Given the description of an element on the screen output the (x, y) to click on. 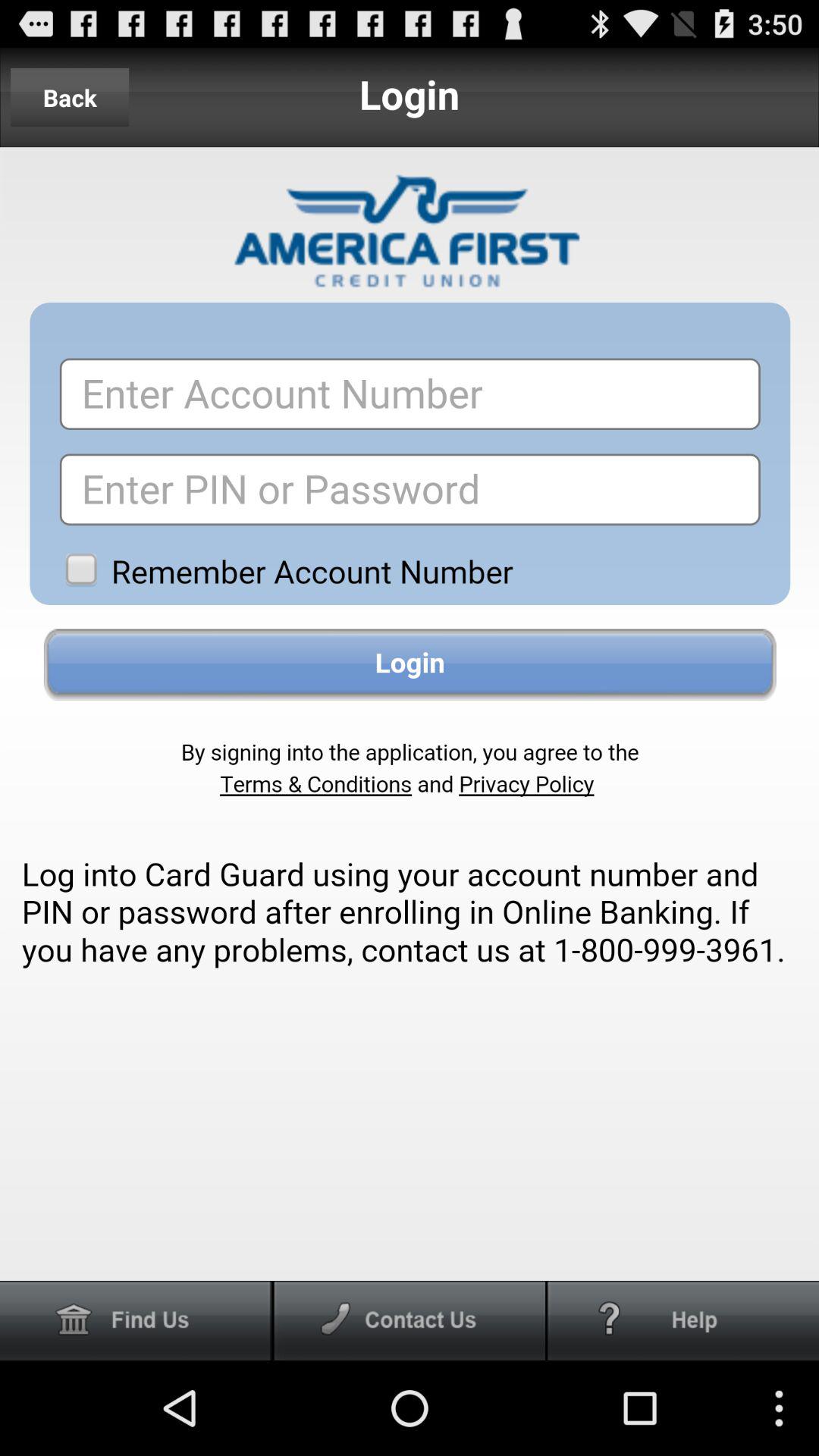
dasbin page (135, 1320)
